Given the description of an element on the screen output the (x, y) to click on. 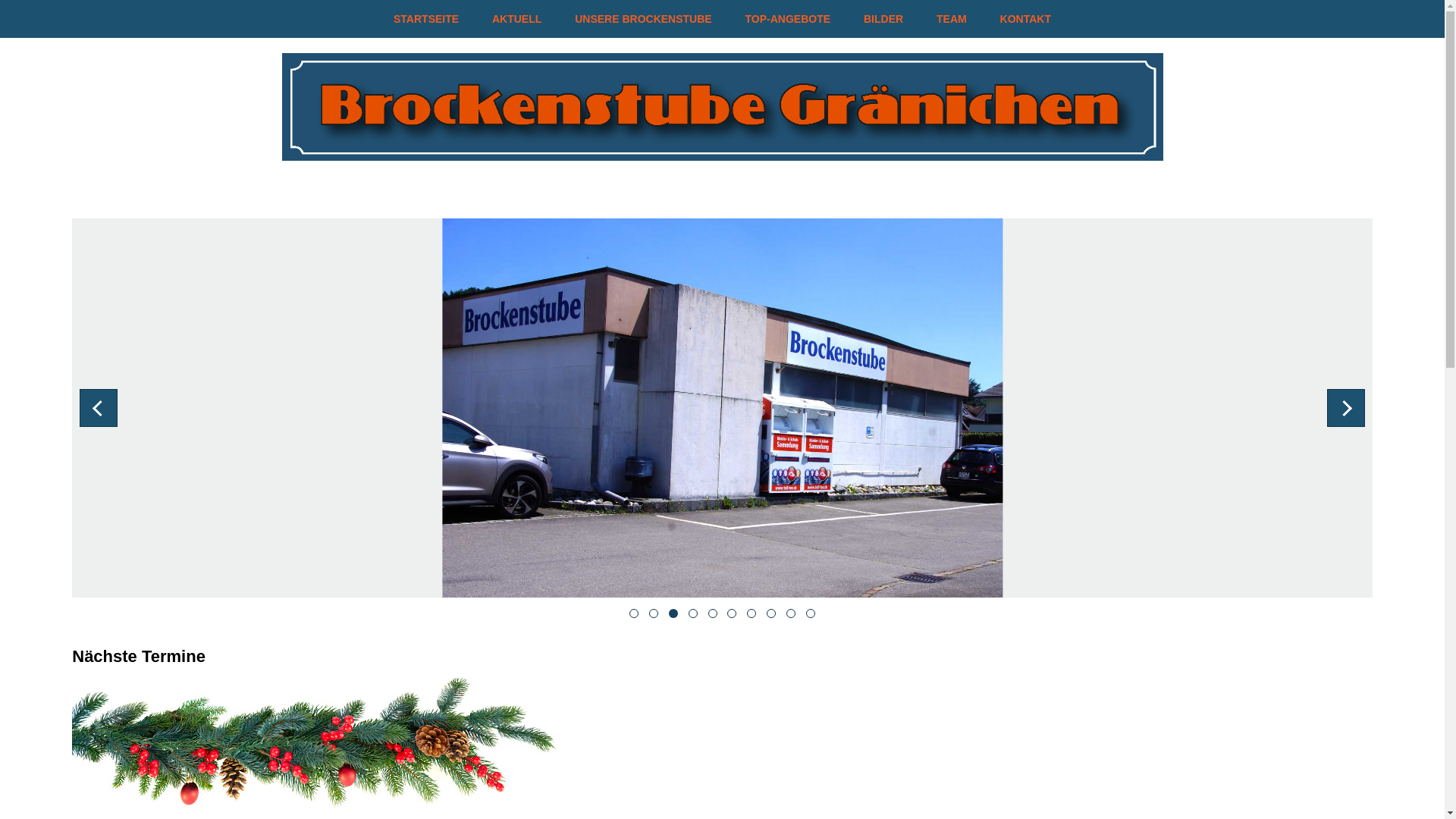
UNSERE BROCKENSTUBE Element type: text (642, 18)
BILDER Element type: text (883, 18)
KONTAKT Element type: text (1025, 18)
STARTSEITE Element type: text (425, 18)
TOP-ANGEBOTE Element type: text (788, 18)
TEAM Element type: text (951, 18)
AKTUELL Element type: text (516, 18)
